Given the description of an element on the screen output the (x, y) to click on. 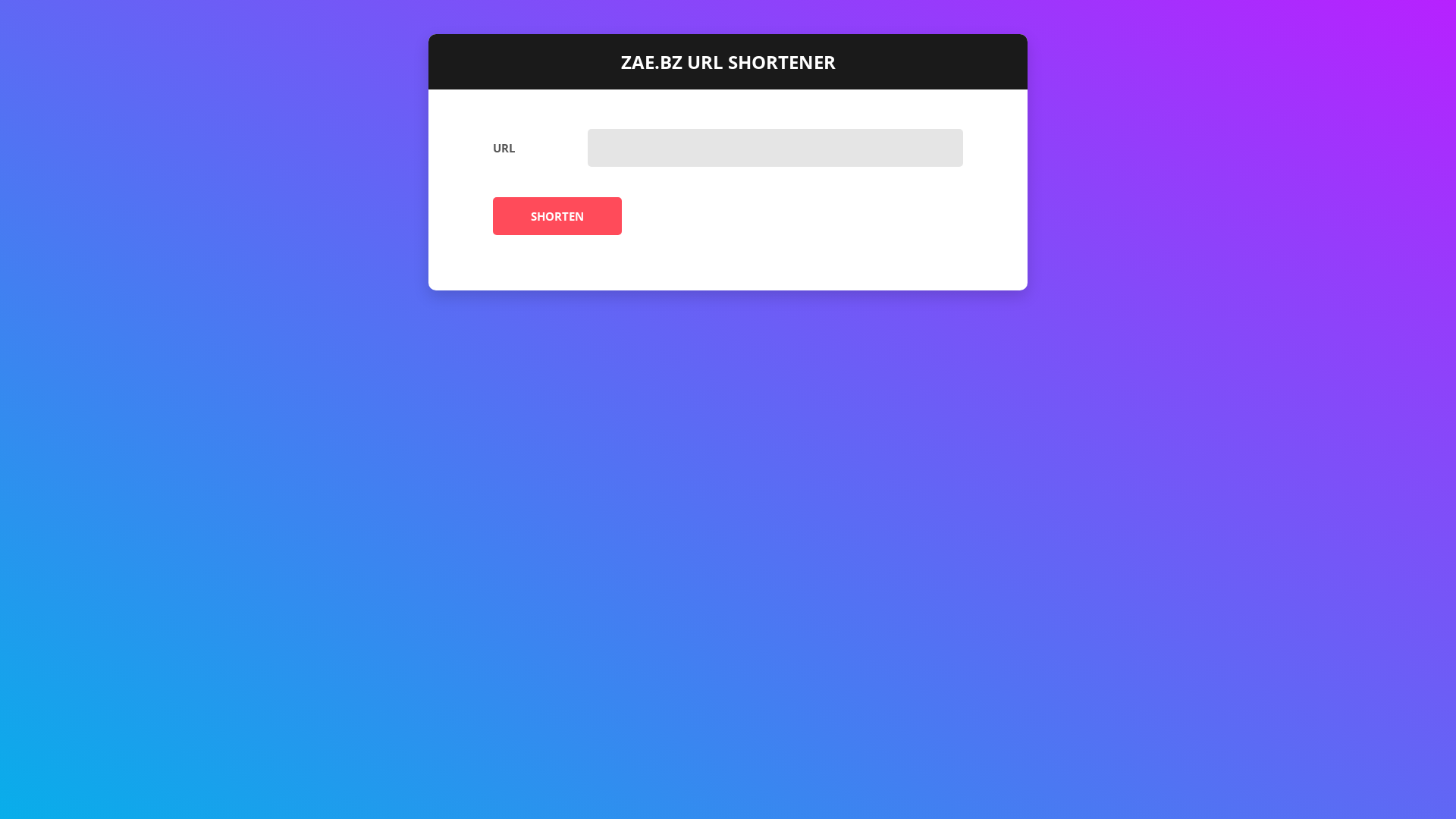
SHORTEN Element type: text (556, 216)
